Given the description of an element on the screen output the (x, y) to click on. 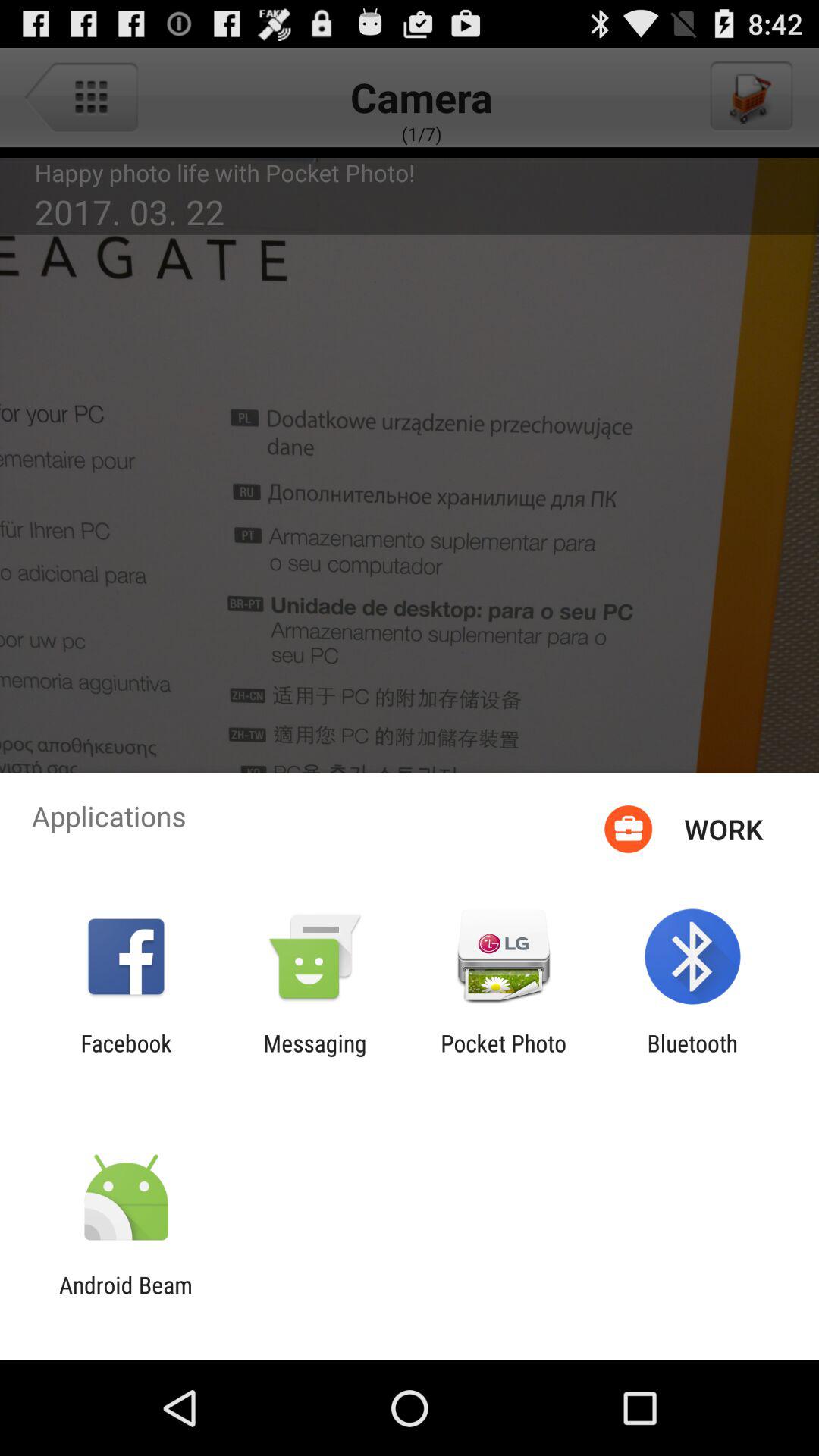
turn off the item next to the bluetooth (503, 1056)
